Given the description of an element on the screen output the (x, y) to click on. 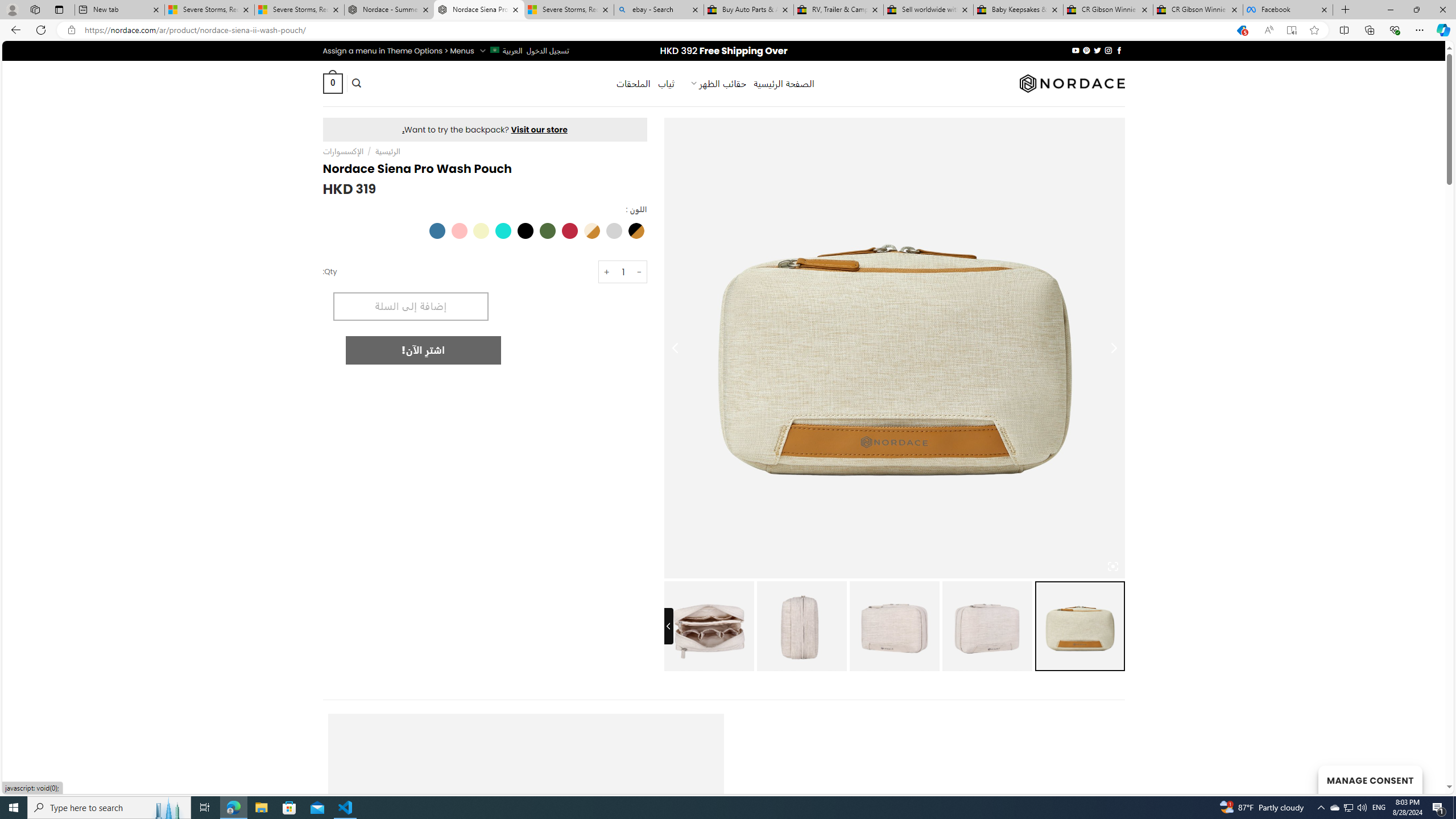
- (639, 272)
 0  (332, 83)
Class: iconic-woothumbs-fullscreen (1113, 566)
